Given the description of an element on the screen output the (x, y) to click on. 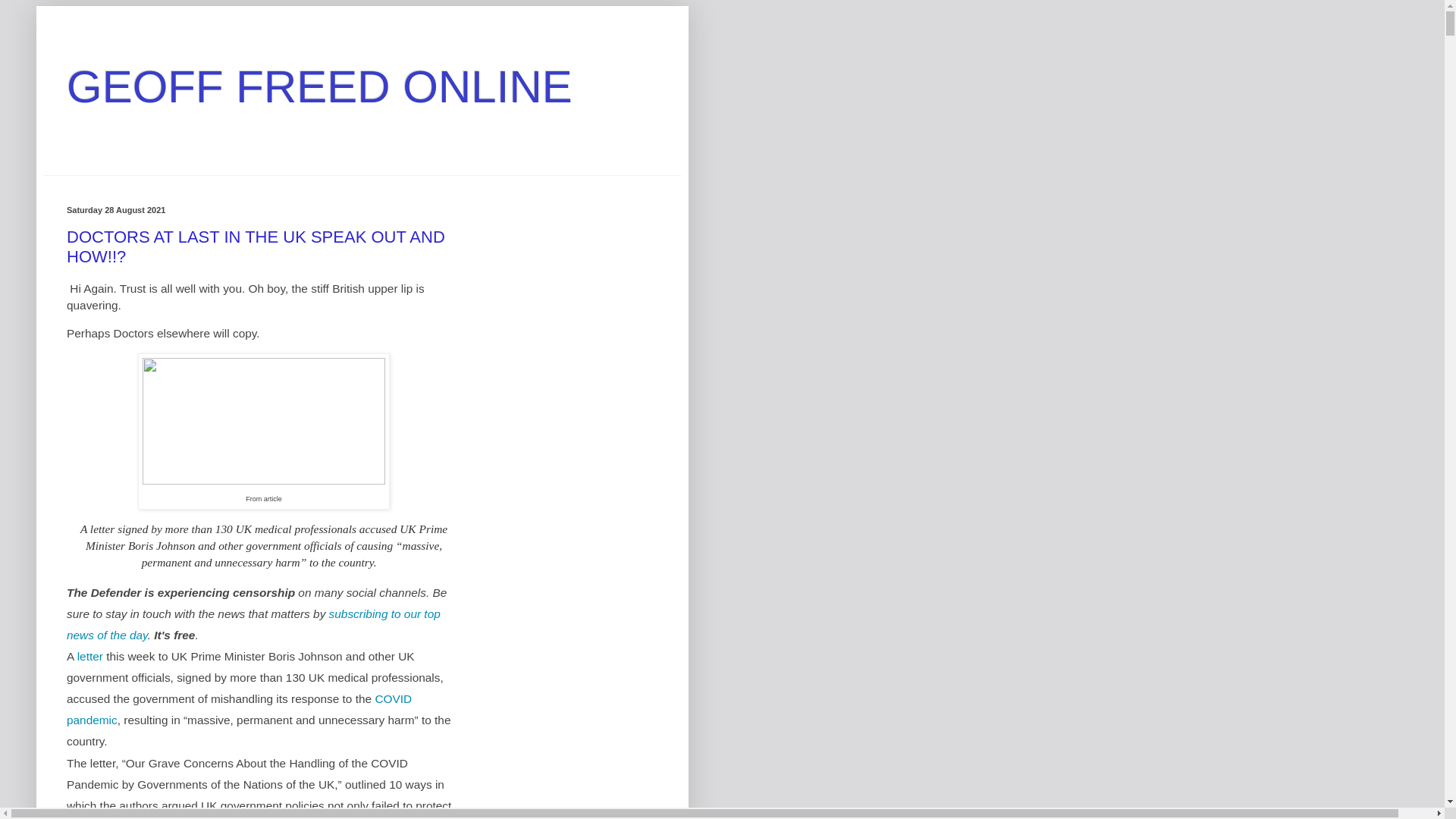
DOCTORS AT LAST IN THE UK SPEAK OUT AND HOW!!? (255, 246)
letter (90, 656)
subscribing to our top news of the day (253, 624)
COVID pandemic (239, 709)
GEOFF FREED ONLINE (319, 86)
